Given the description of an element on the screen output the (x, y) to click on. 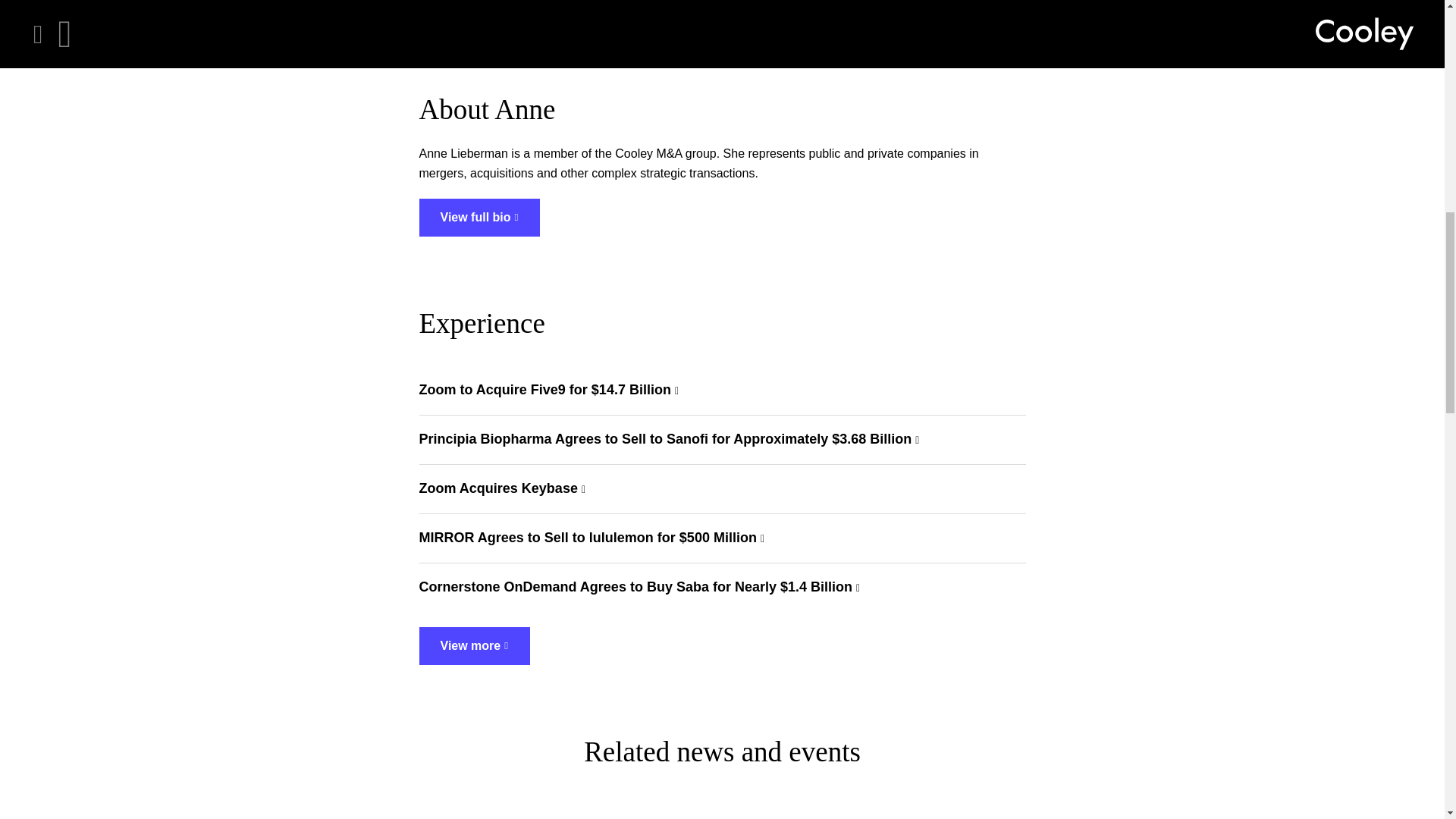
View full bio (479, 217)
Related news and events (722, 11)
